Given the description of an element on the screen output the (x, y) to click on. 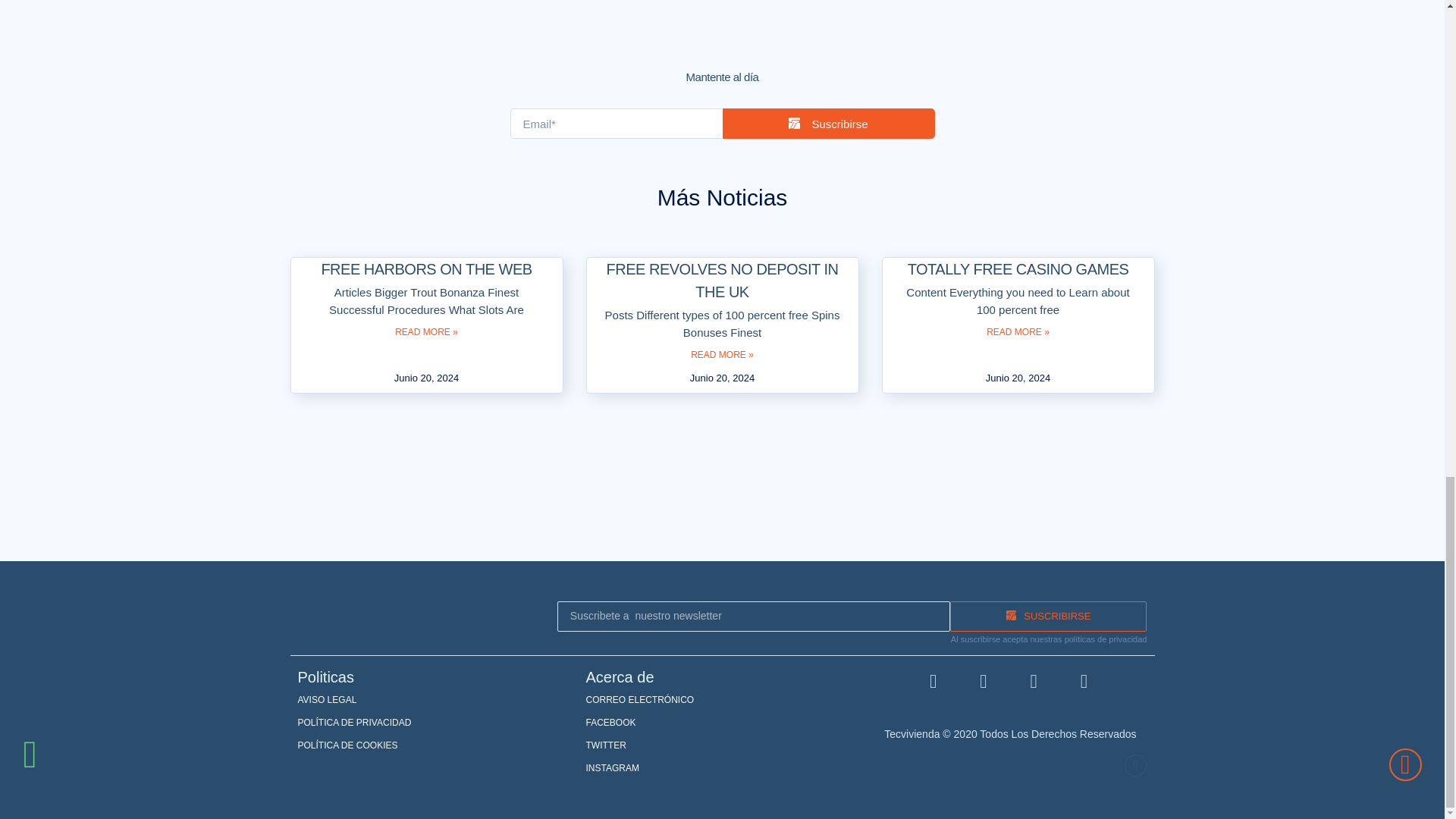
FREE REVOLVES NO DEPOSIT IN THE UK (722, 280)
AVISO LEGAL (433, 699)
TOTALLY FREE CASINO GAMES (1018, 269)
FREE HARBORS ON THE WEB (425, 269)
FACEBOOK (722, 722)
